Given the description of an element on the screen output the (x, y) to click on. 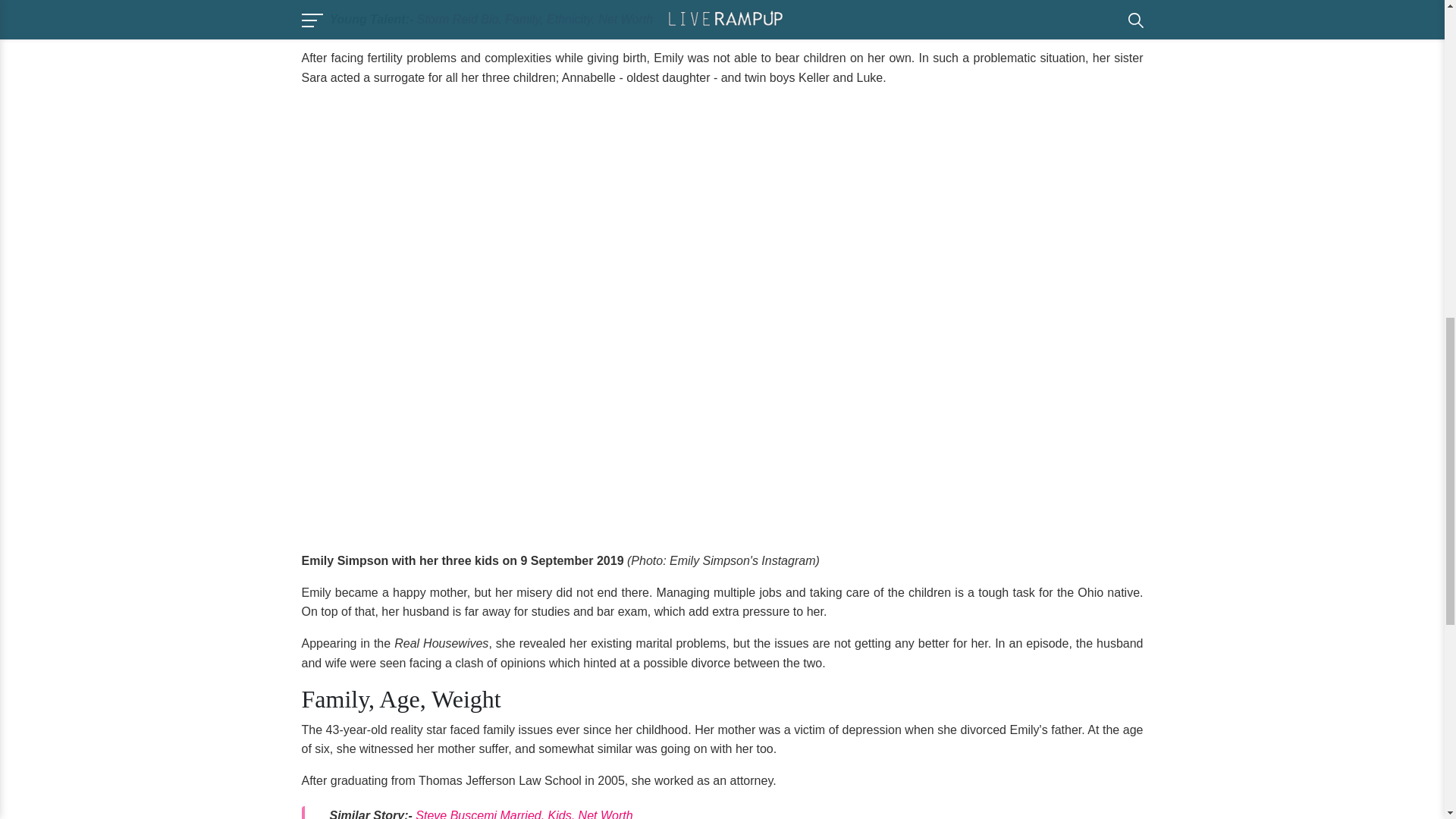
Steve Buscemi Married, Kids, Net Worth (522, 814)
Storm Reid Bio, Family, Ethnicity, Net Worth (534, 19)
